Given the description of an element on the screen output the (x, y) to click on. 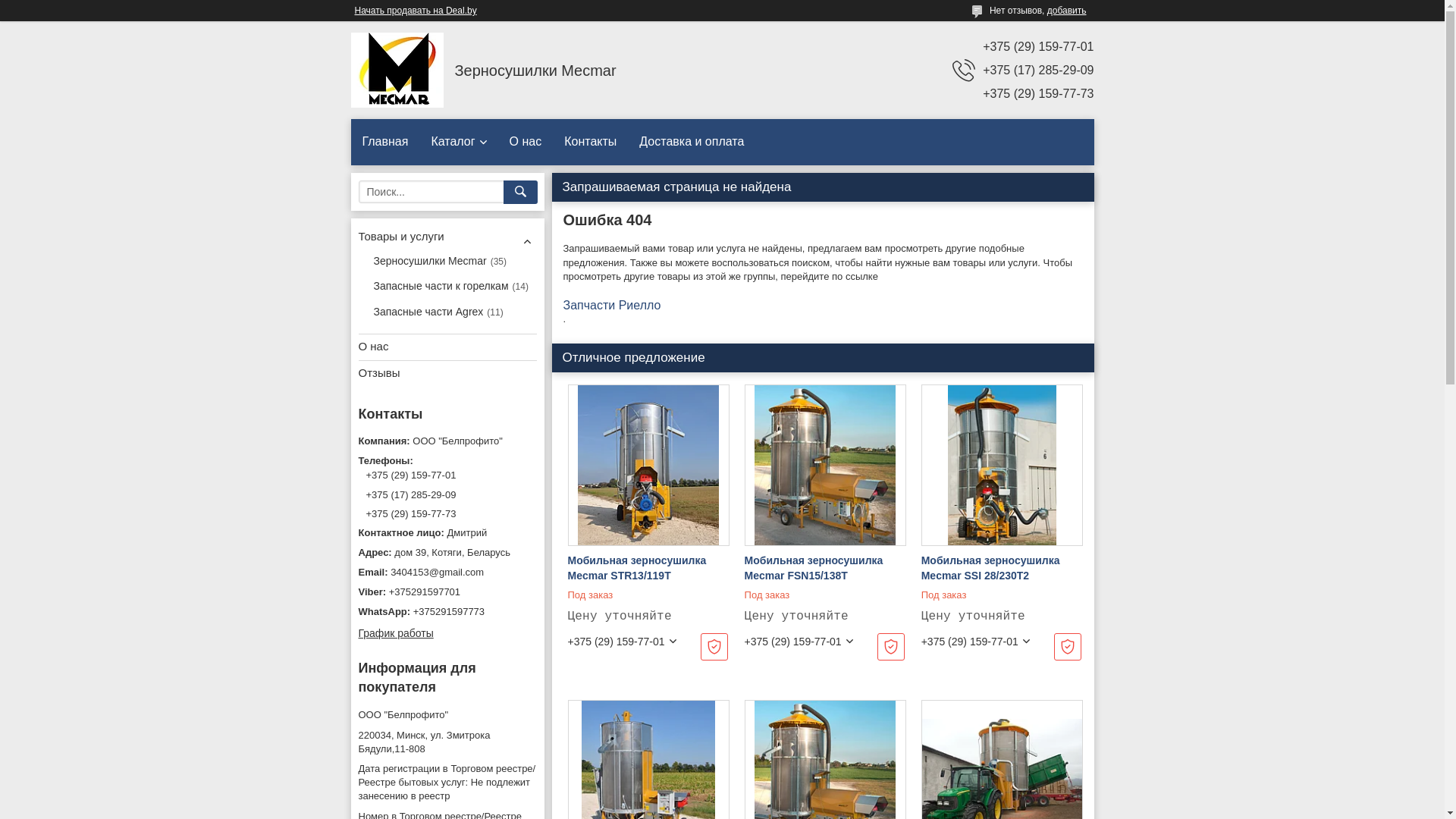
3404153@gmail.com Element type: text (446, 572)
